Given the description of an element on the screen output the (x, y) to click on. 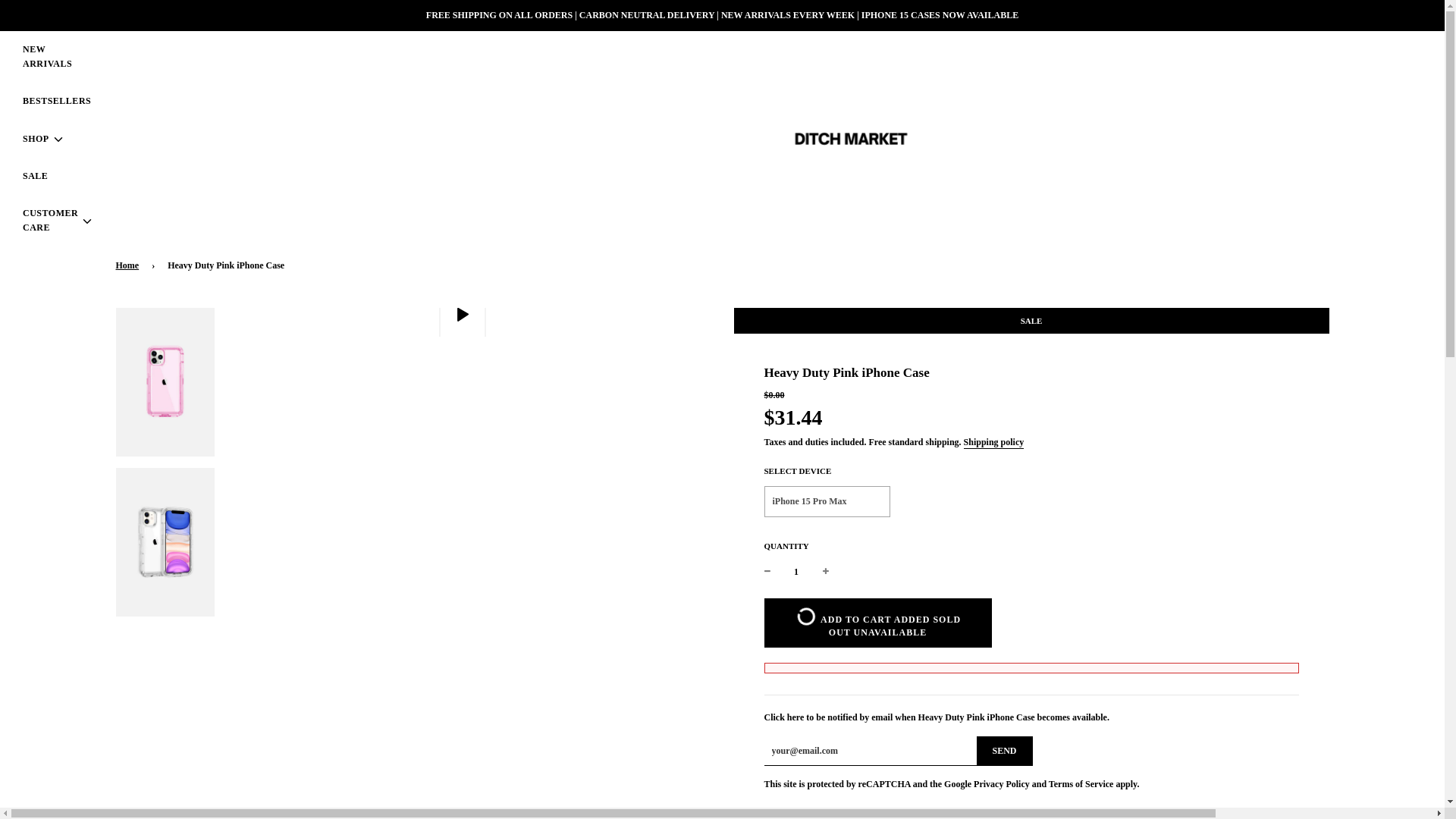
1 (796, 572)
Back to the frontpage (129, 265)
Send (1004, 750)
